Given the description of an element on the screen output the (x, y) to click on. 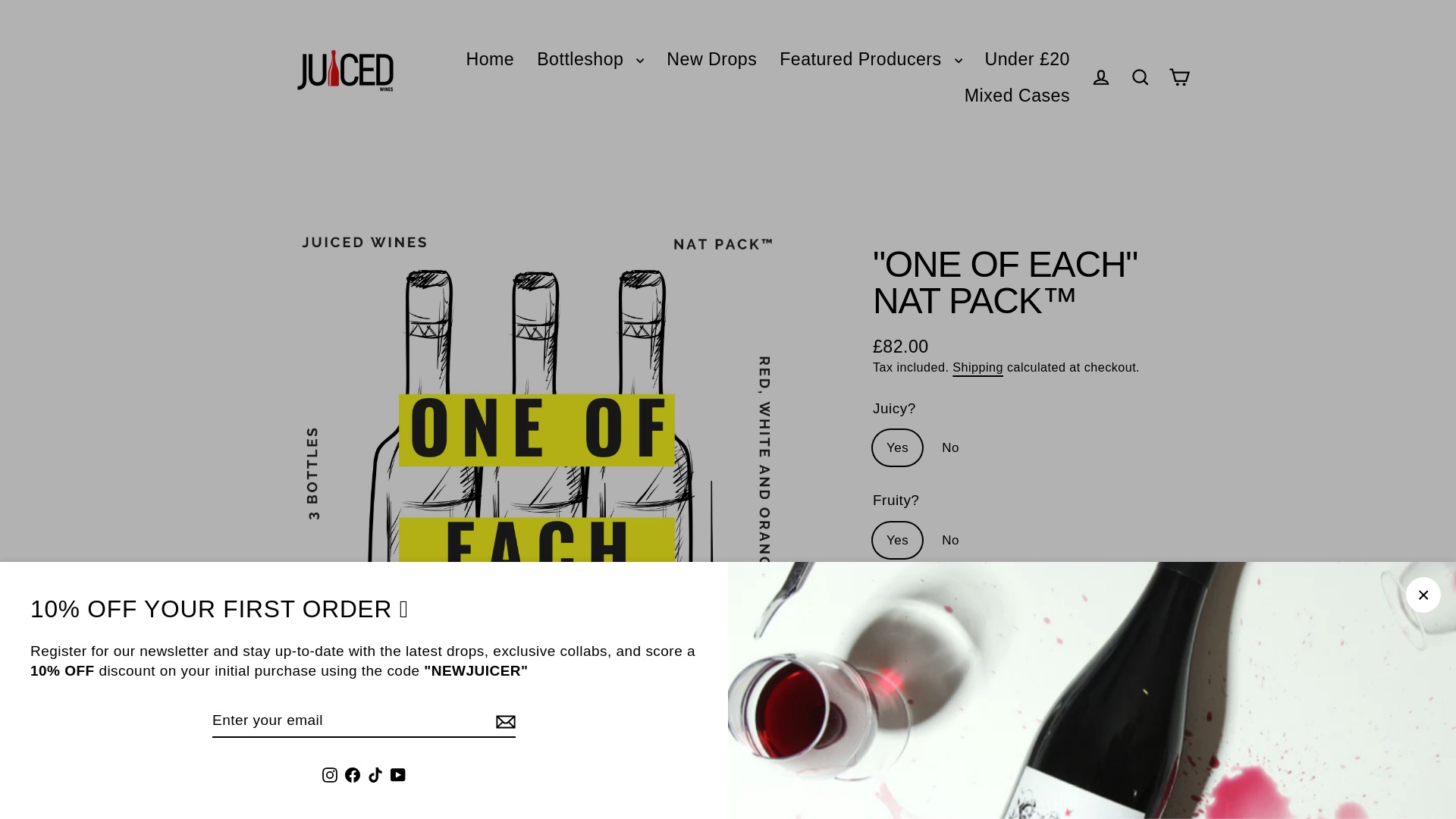
Juiced Wines on Facebook (352, 774)
icon-X (1422, 595)
Juiced Wines on YouTube (398, 774)
Juiced Wines on Instagram (329, 774)
Juiced Wines on TikTok (375, 774)
Home (489, 58)
Subscribe (503, 721)
